Given the description of an element on the screen output the (x, y) to click on. 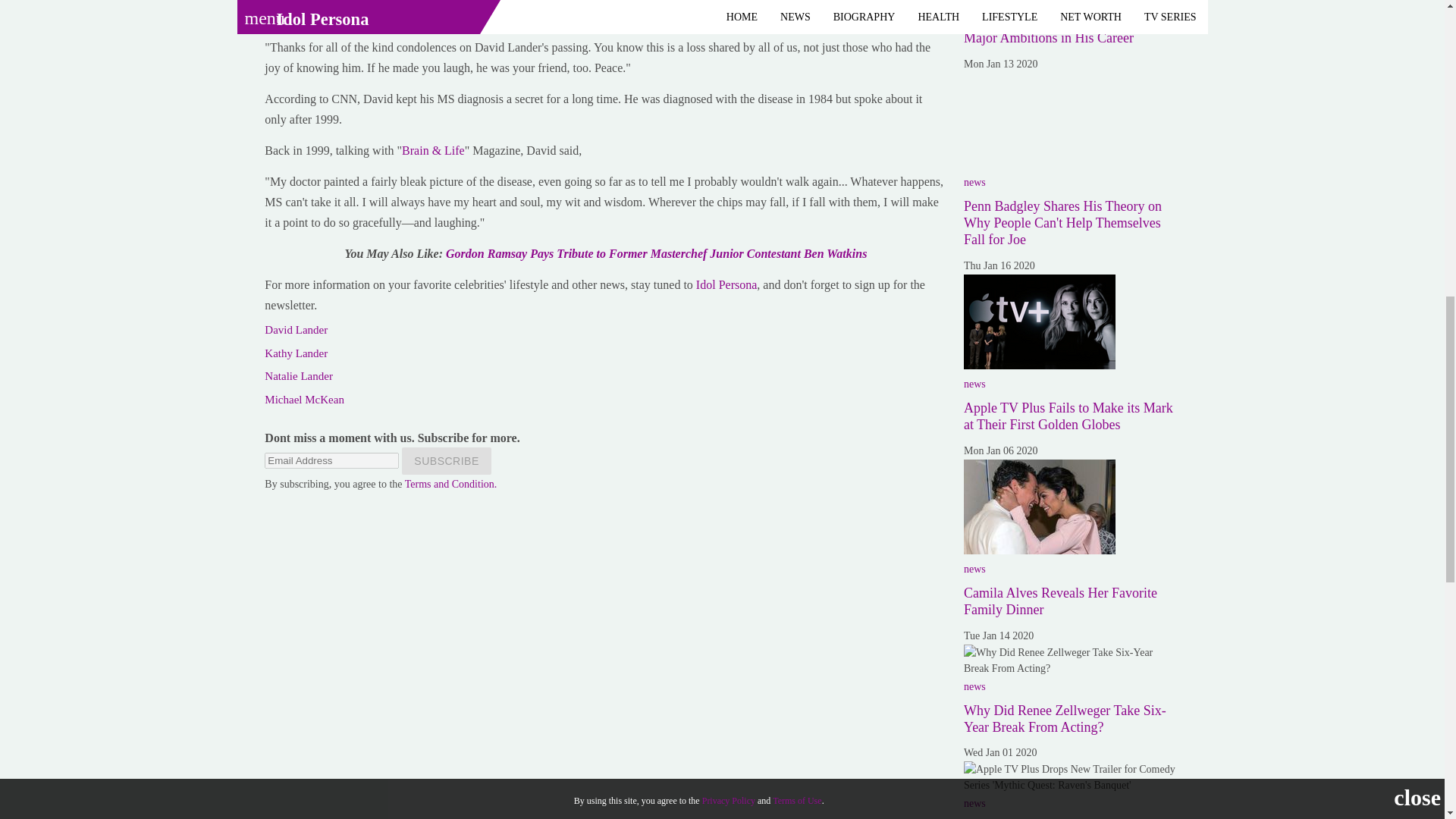
Why Did Renee Zellweger Take Six-Year Break From Acting? (1064, 718)
Why Did Renee Zellweger Take Six-Year Break From Acting? (1071, 660)
David Lander (295, 329)
Camila Alves Reveals Her Favorite Family Dinner (1060, 601)
Kathy Lander (295, 353)
Natalie Lander (298, 376)
Camila Alves Reveals Her Favorite Family Dinner (1039, 506)
Idol Persona (726, 284)
